Given the description of an element on the screen output the (x, y) to click on. 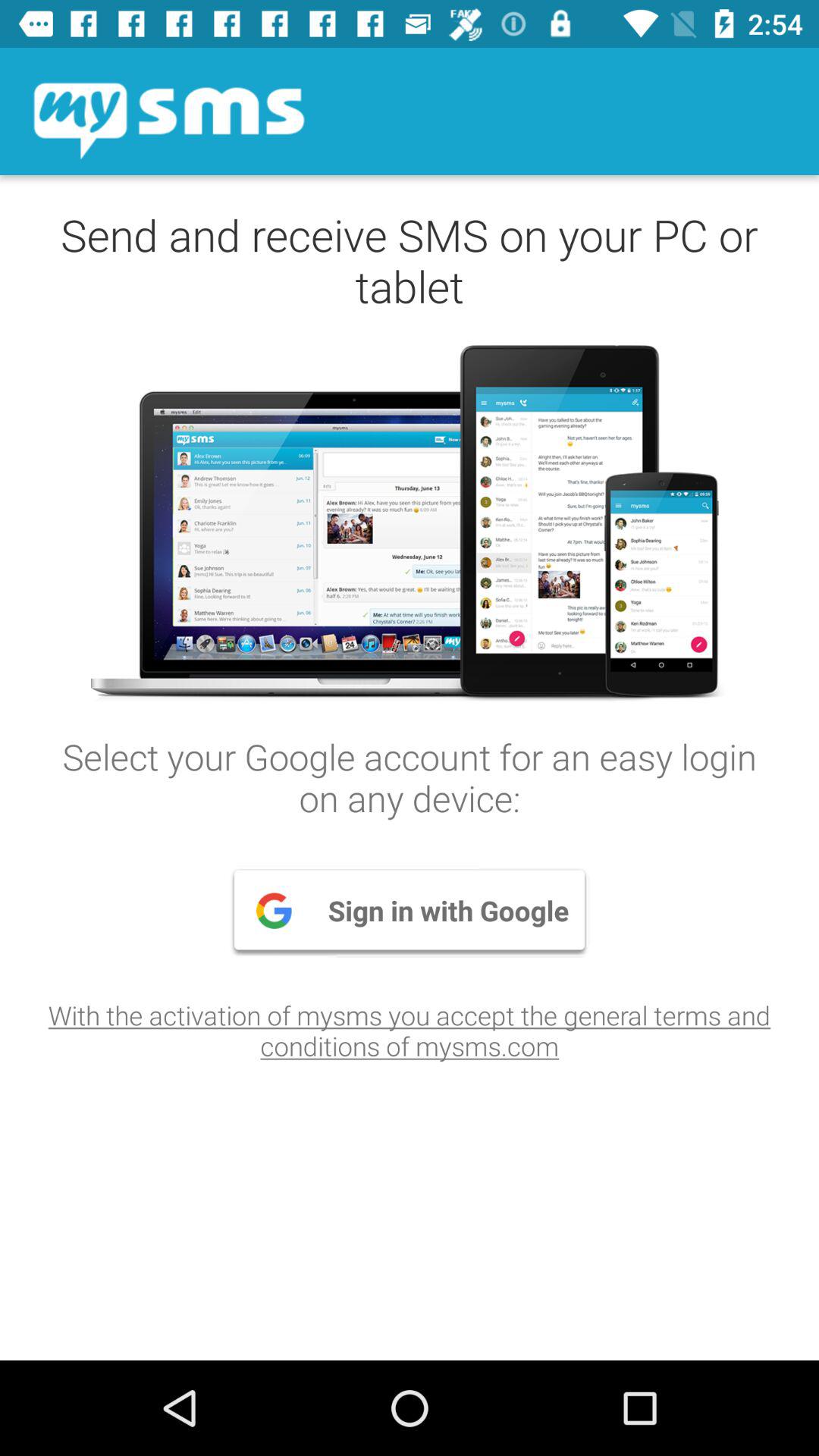
turn on with the activation icon (409, 1030)
